Given the description of an element on the screen output the (x, y) to click on. 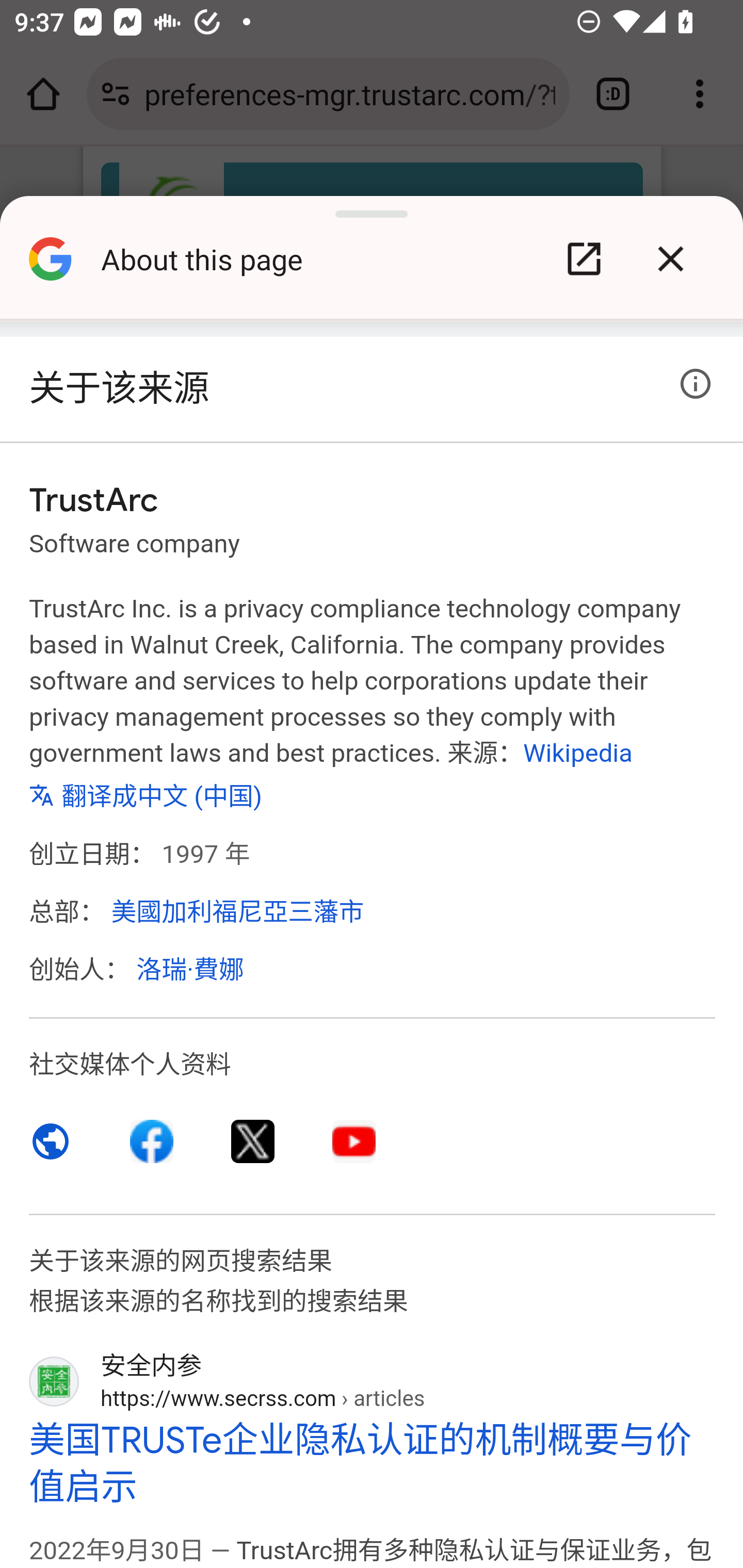
About this page Open in new tab Close (371, 266)
Open in new tab (583, 259)
Close (670, 259)
来源相关帮助 (695, 384)
Wikipedia (577, 752)
翻译成中文 (中国) (145, 792)
美國加利福尼亞三藩市 (236, 911)
洛瑞·費娜 (190, 969)
TrustArc官方网站 (51, 1140)
TrustArcfacebook.com (152, 1140)
TrustArctwitter.com (252, 1140)
TrustArcyoutube.com (354, 1140)
